Given the description of an element on the screen output the (x, y) to click on. 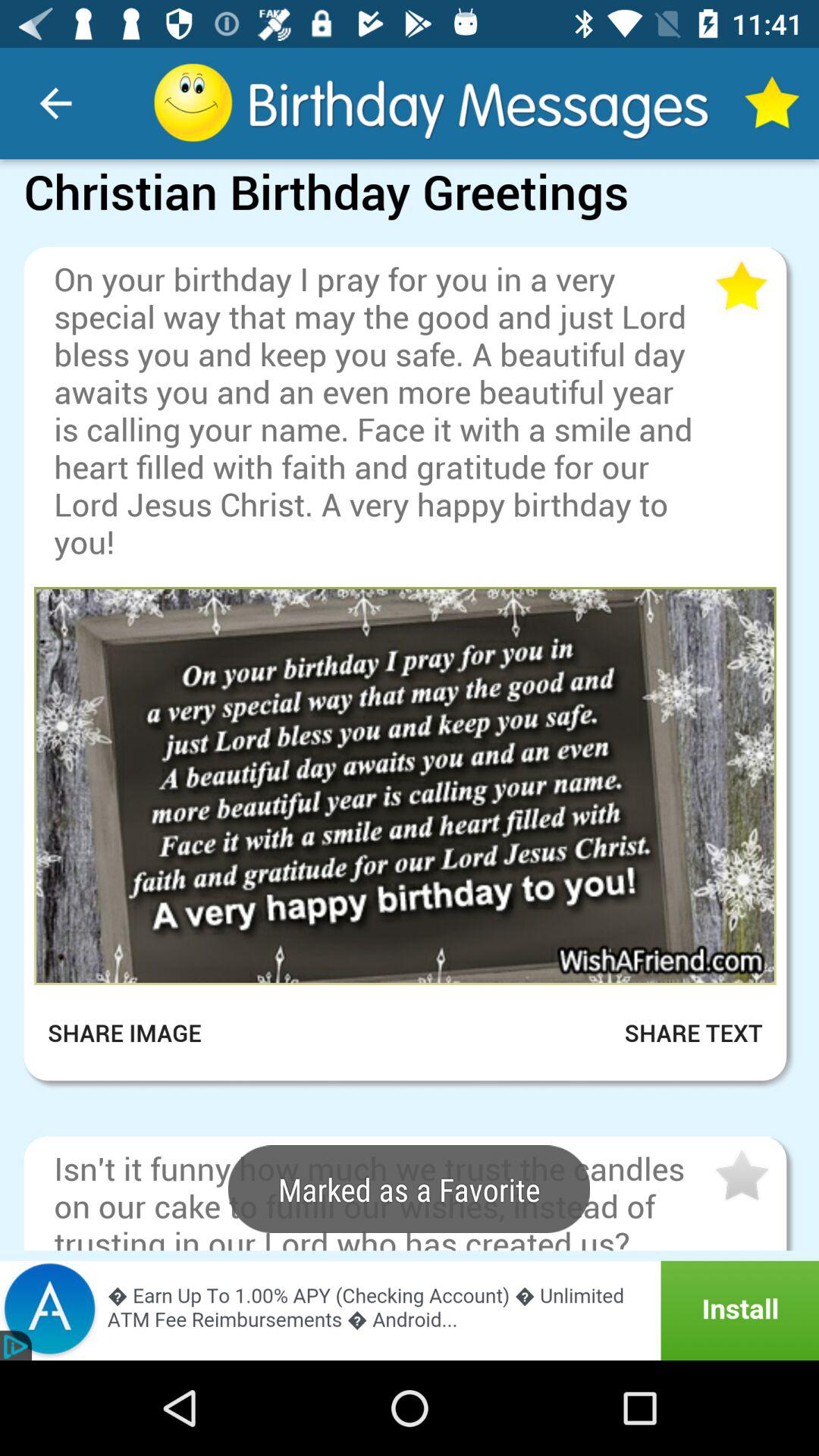
jump to share image (134, 1032)
